Given the description of an element on the screen output the (x, y) to click on. 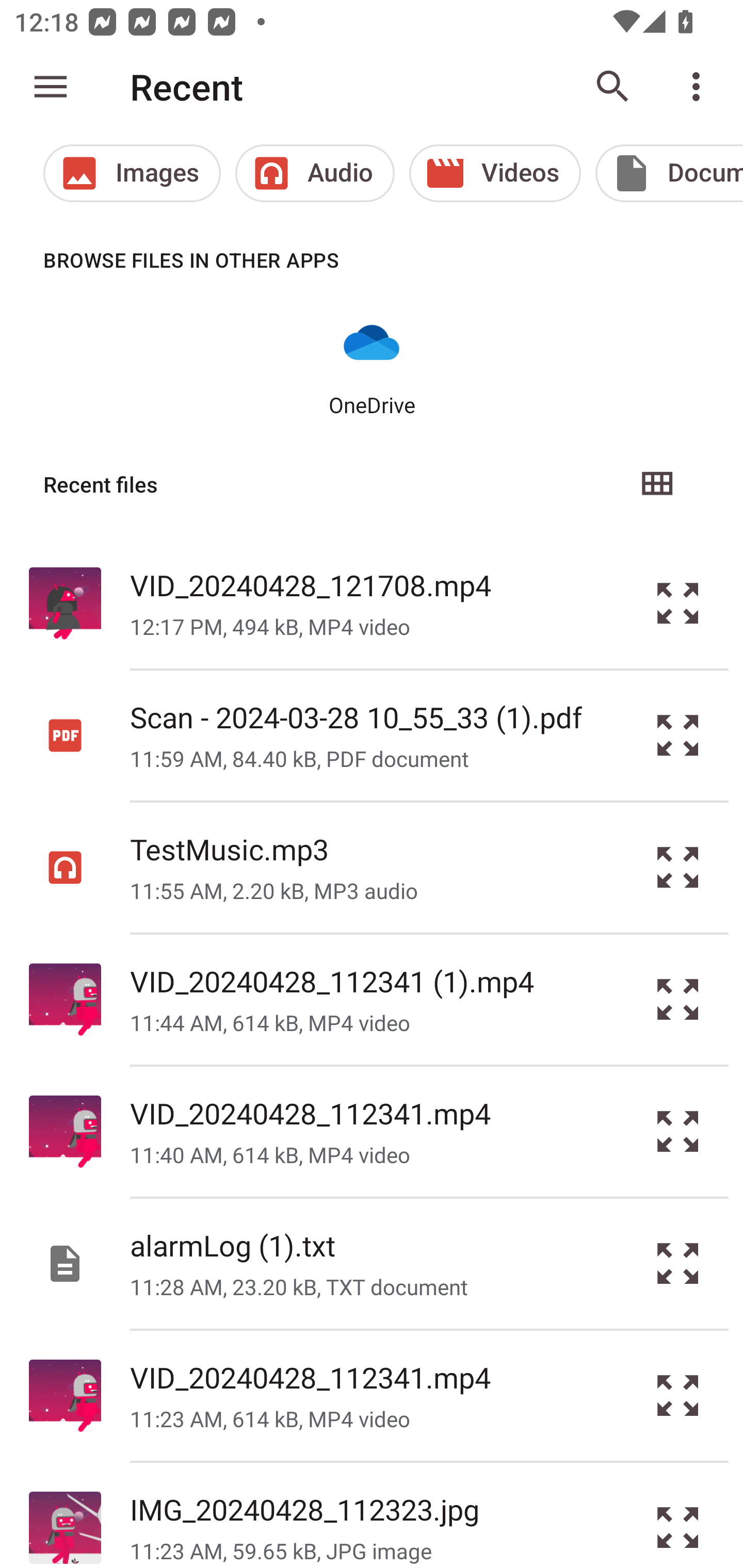
Show roots (50, 86)
Search (612, 86)
More options (699, 86)
Images (131, 173)
Audio (314, 173)
Videos (495, 173)
Documents (669, 173)
OneDrive (371, 365)
Grid view (655, 484)
Preview the file VID_20240428_121708.mp4 (677, 602)
Preview the file TestMusic.mp3 (677, 867)
Preview the file VID_20240428_112341 (1).mp4 (677, 999)
Preview the file VID_20240428_112341.mp4 (677, 1131)
Preview the file alarmLog (1).txt (677, 1262)
Preview the file VID_20240428_112341.mp4 (677, 1396)
Preview the file IMG_20240428_112323.jpg (677, 1515)
